Given the description of an element on the screen output the (x, y) to click on. 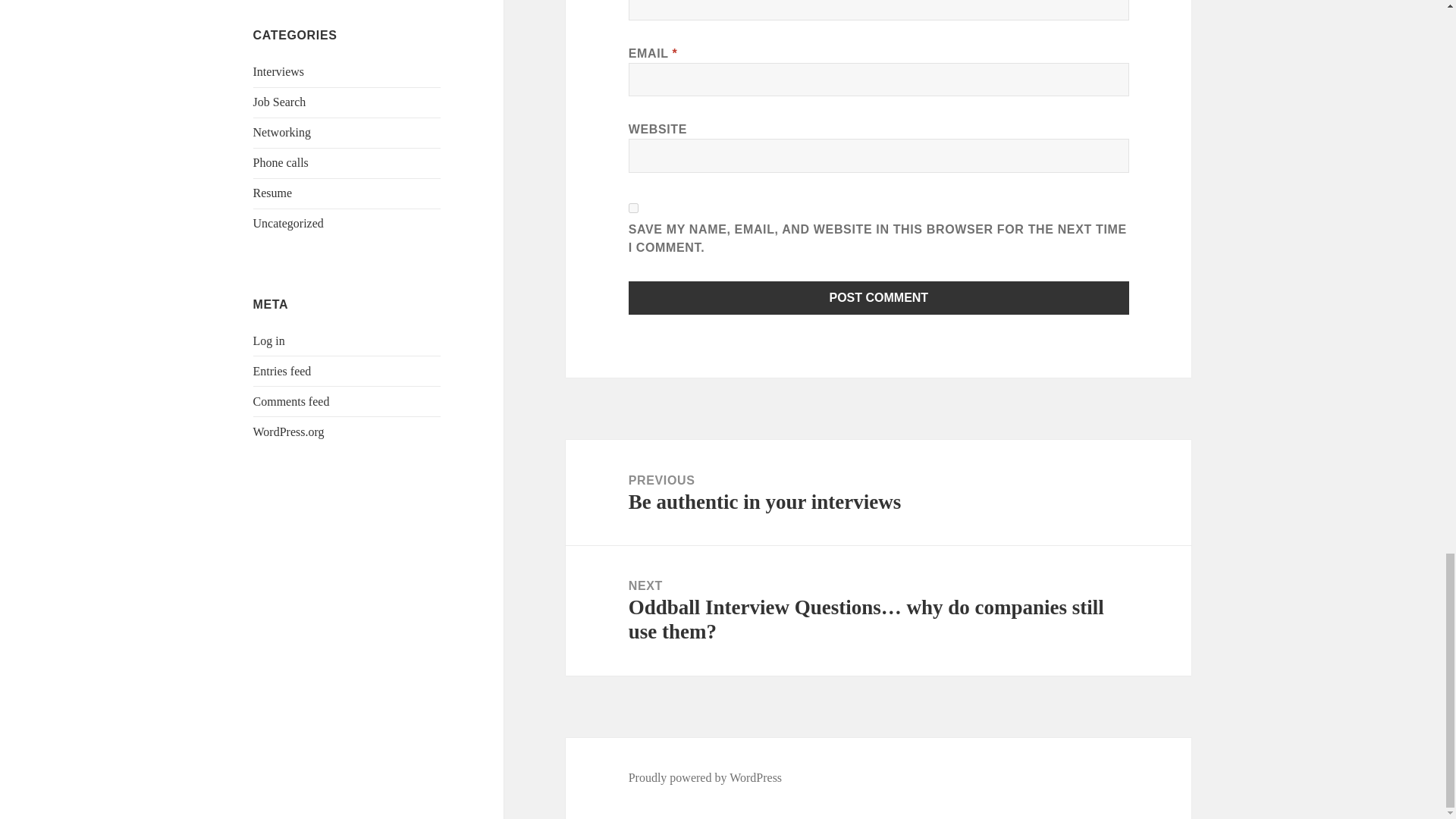
Uncategorized (288, 223)
Resume (272, 192)
yes (633, 207)
Log in (269, 340)
Interviews (278, 71)
Job Search (279, 101)
Post Comment (878, 297)
Phone calls (280, 162)
Networking (282, 132)
Entries feed (282, 370)
